Given the description of an element on the screen output the (x, y) to click on. 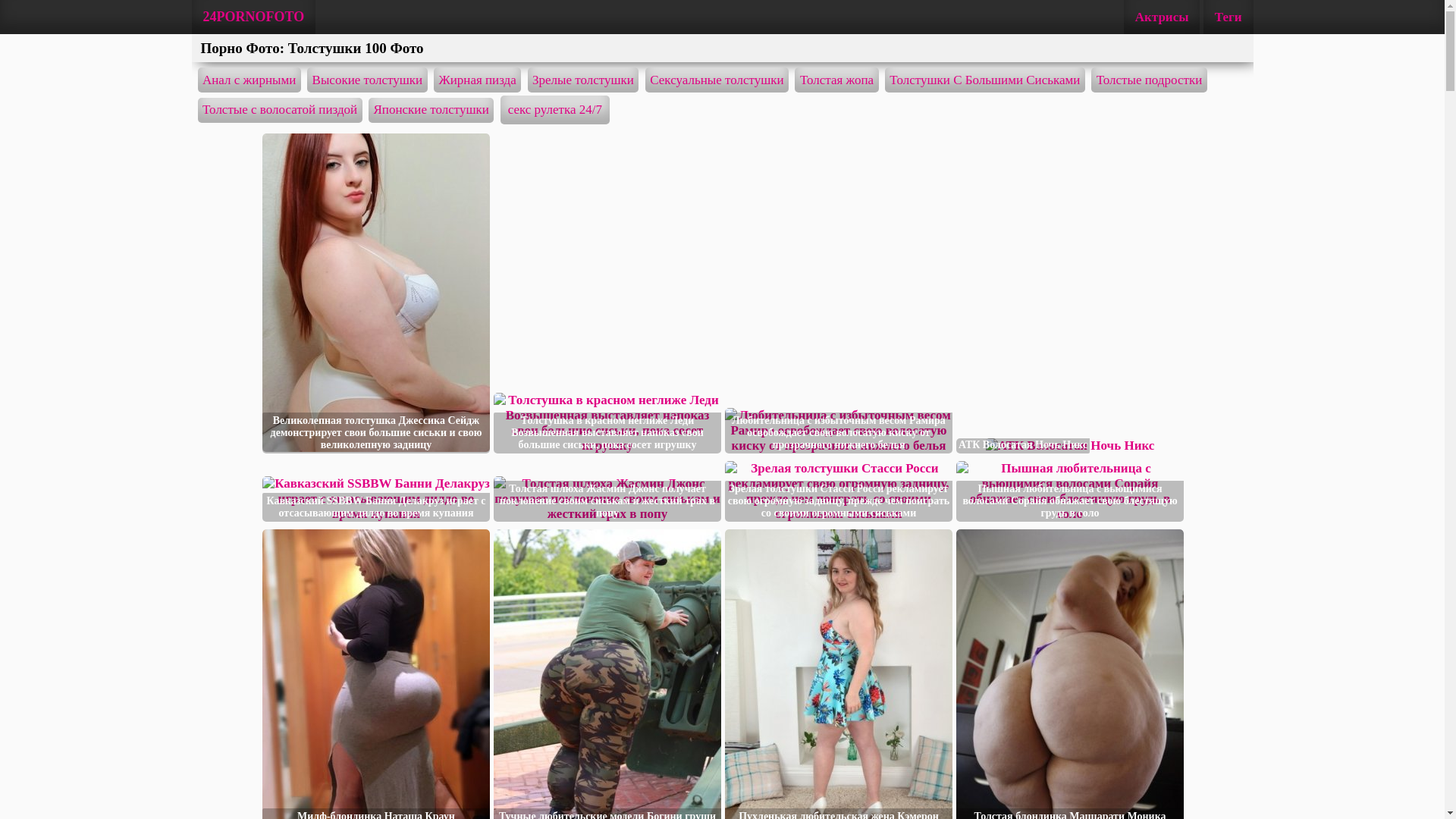
24PORNOFOTO Element type: text (253, 17)
